Given the description of an element on the screen output the (x, y) to click on. 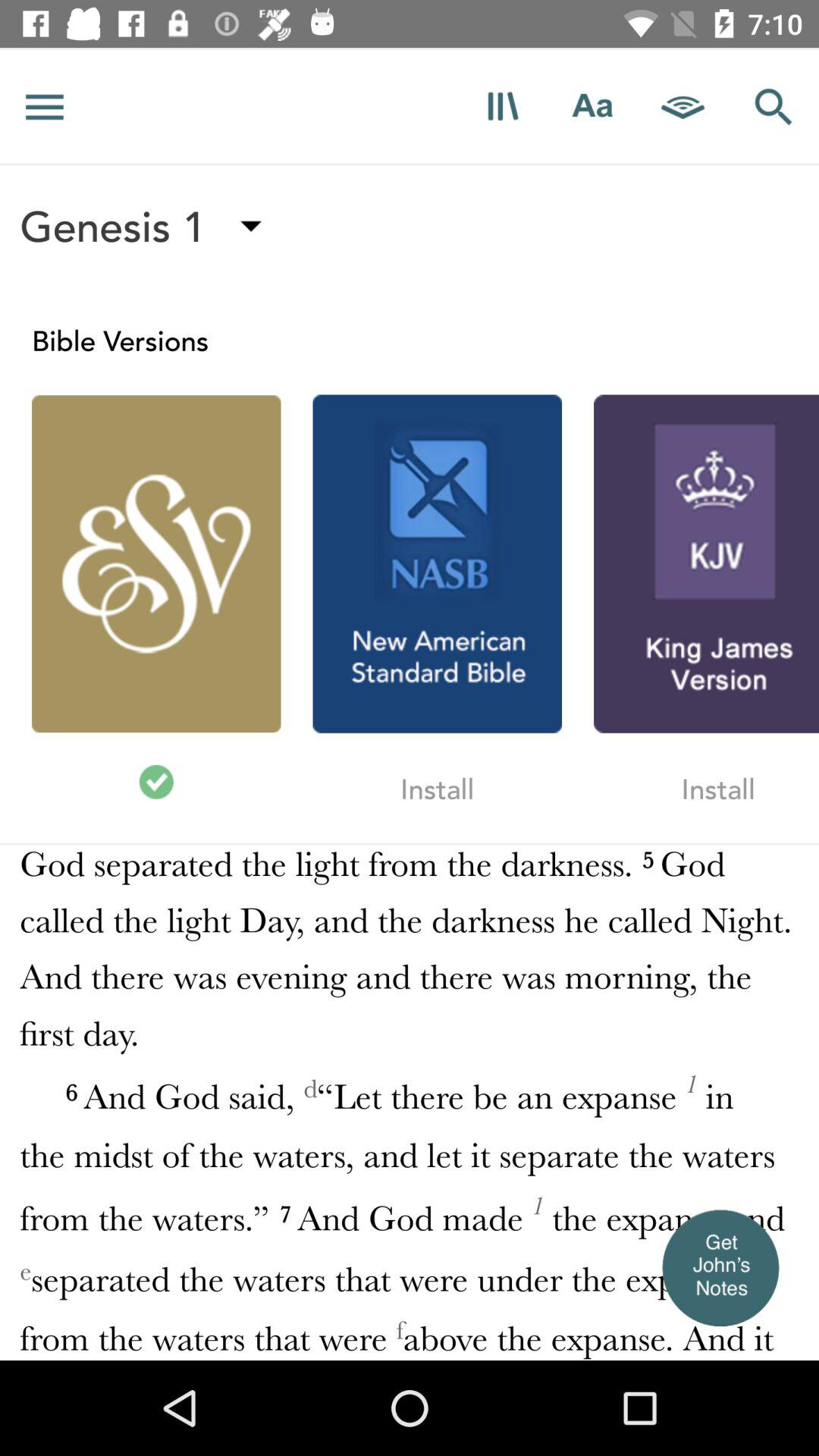
get john 's notes (720, 1267)
